Given the description of an element on the screen output the (x, y) to click on. 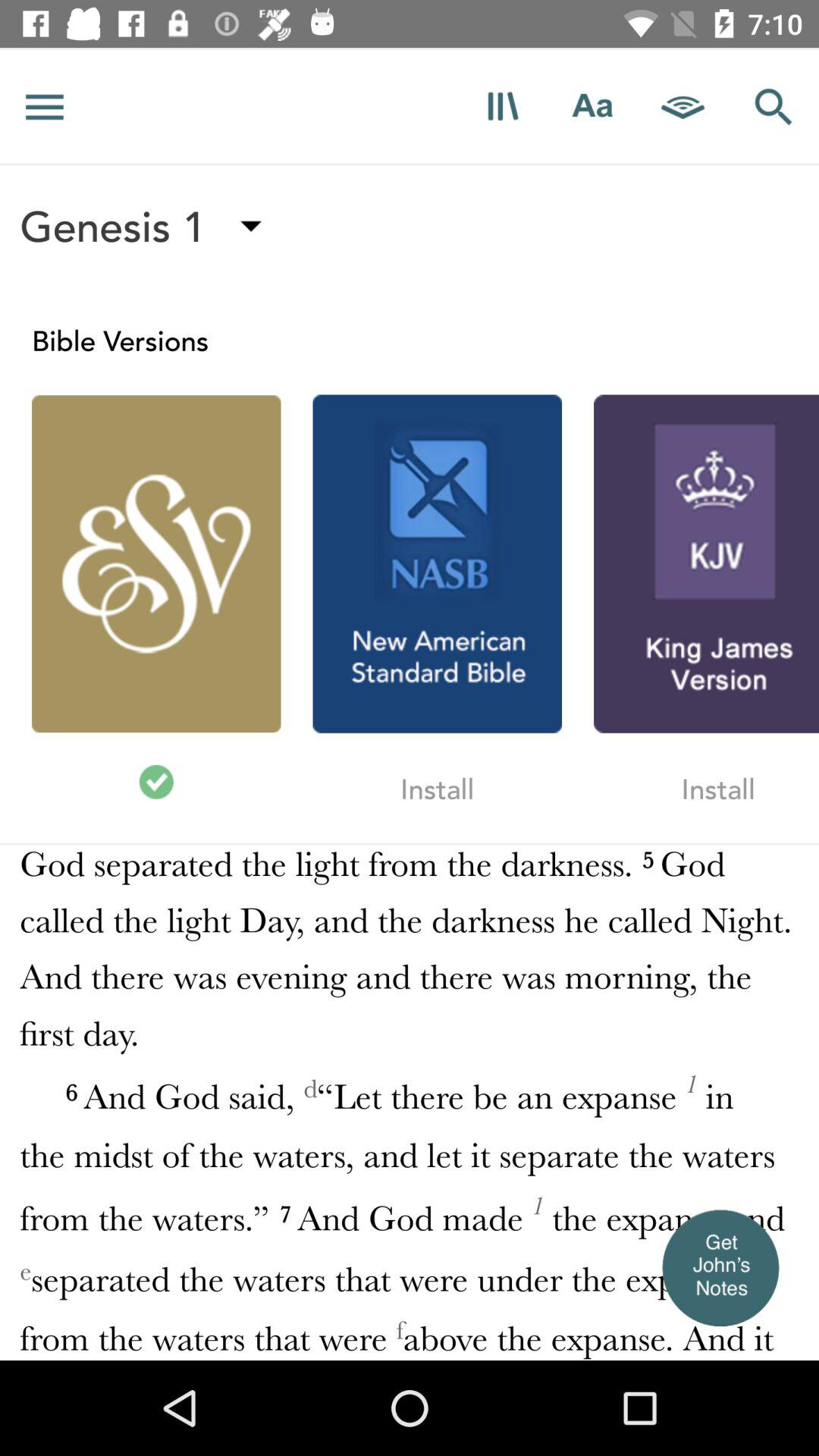
get john 's notes (720, 1267)
